Given the description of an element on the screen output the (x, y) to click on. 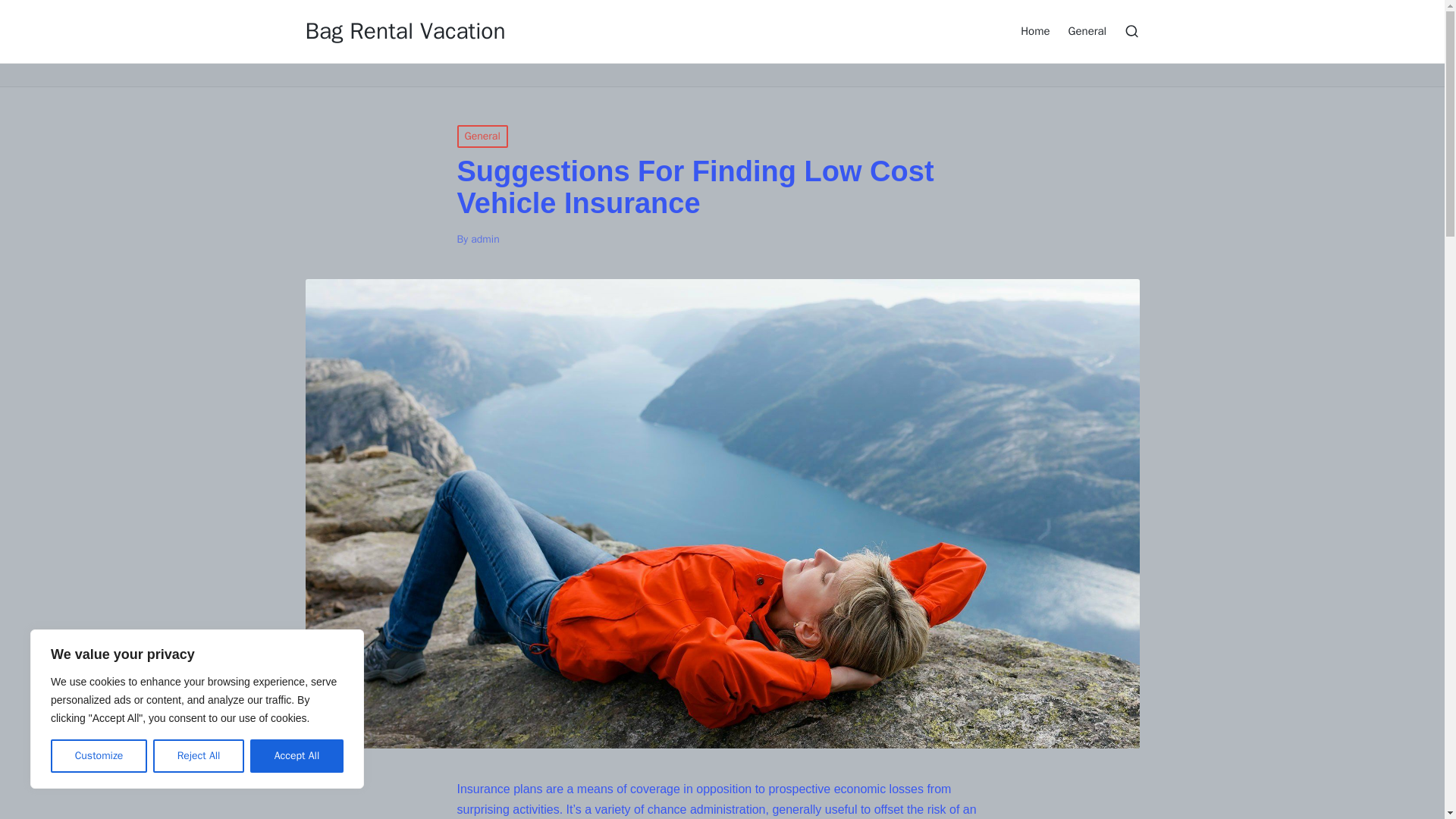
Home (1034, 30)
General (481, 136)
Accept All (296, 756)
Reject All (198, 756)
Customize (98, 756)
admin (484, 238)
Bag Rental Vacation (404, 31)
General (1087, 30)
View all posts by  (484, 238)
